Given the description of an element on the screen output the (x, y) to click on. 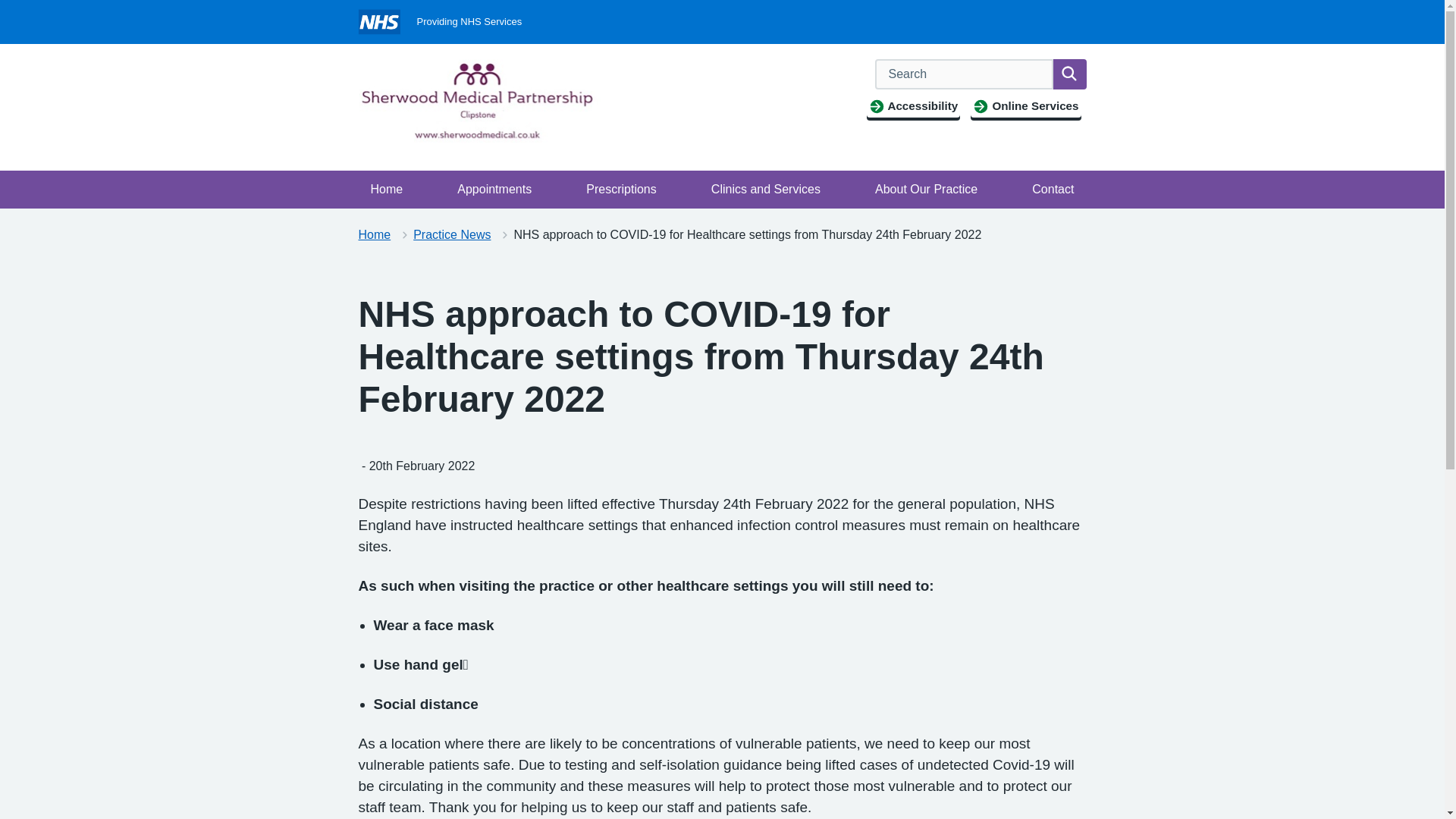
Clinics and Services (765, 189)
Online Services (1025, 106)
Contact (1053, 189)
Home (374, 234)
Accessibility (913, 106)
Home (386, 189)
Appointments (494, 189)
Search (1069, 73)
About Our Practice (926, 189)
Prescriptions (620, 189)
Practice News (451, 234)
